Given the description of an element on the screen output the (x, y) to click on. 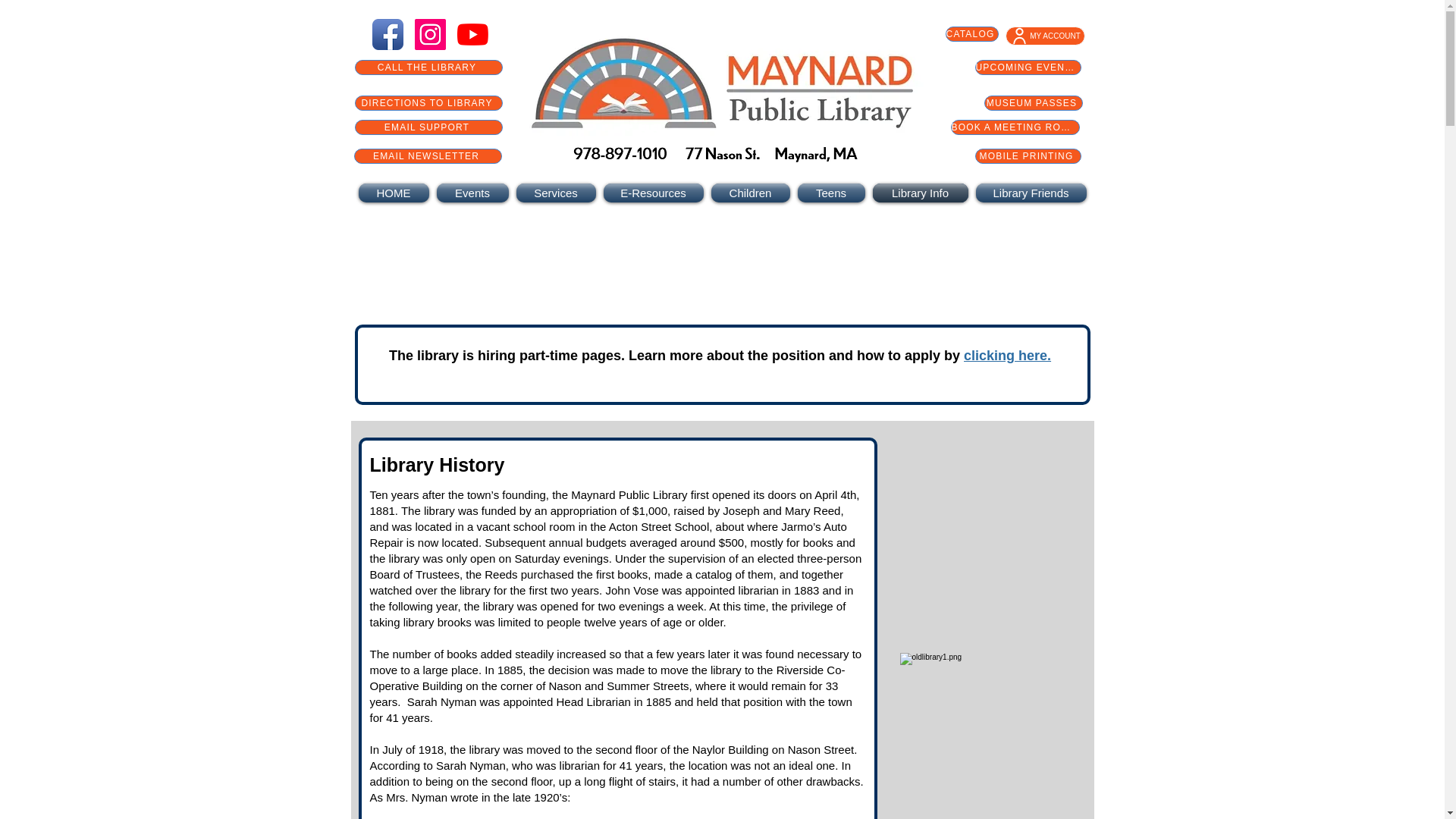
Events (472, 192)
BOOK A MEETING ROOM (1015, 127)
CALL THE LIBRARY (428, 67)
HOME (395, 192)
EMAIL NEWSLETTER (426, 155)
UPCOMING EVENTS (1028, 67)
Services (555, 192)
MUSEUM PASSES (1033, 102)
DIRECTIONS TO LIBRARY (428, 102)
EMAIL SUPPORT (428, 127)
MOBILE PRINTING (1028, 155)
CATALOG (970, 33)
MY ACCOUNT (1045, 35)
